Given the description of an element on the screen output the (x, y) to click on. 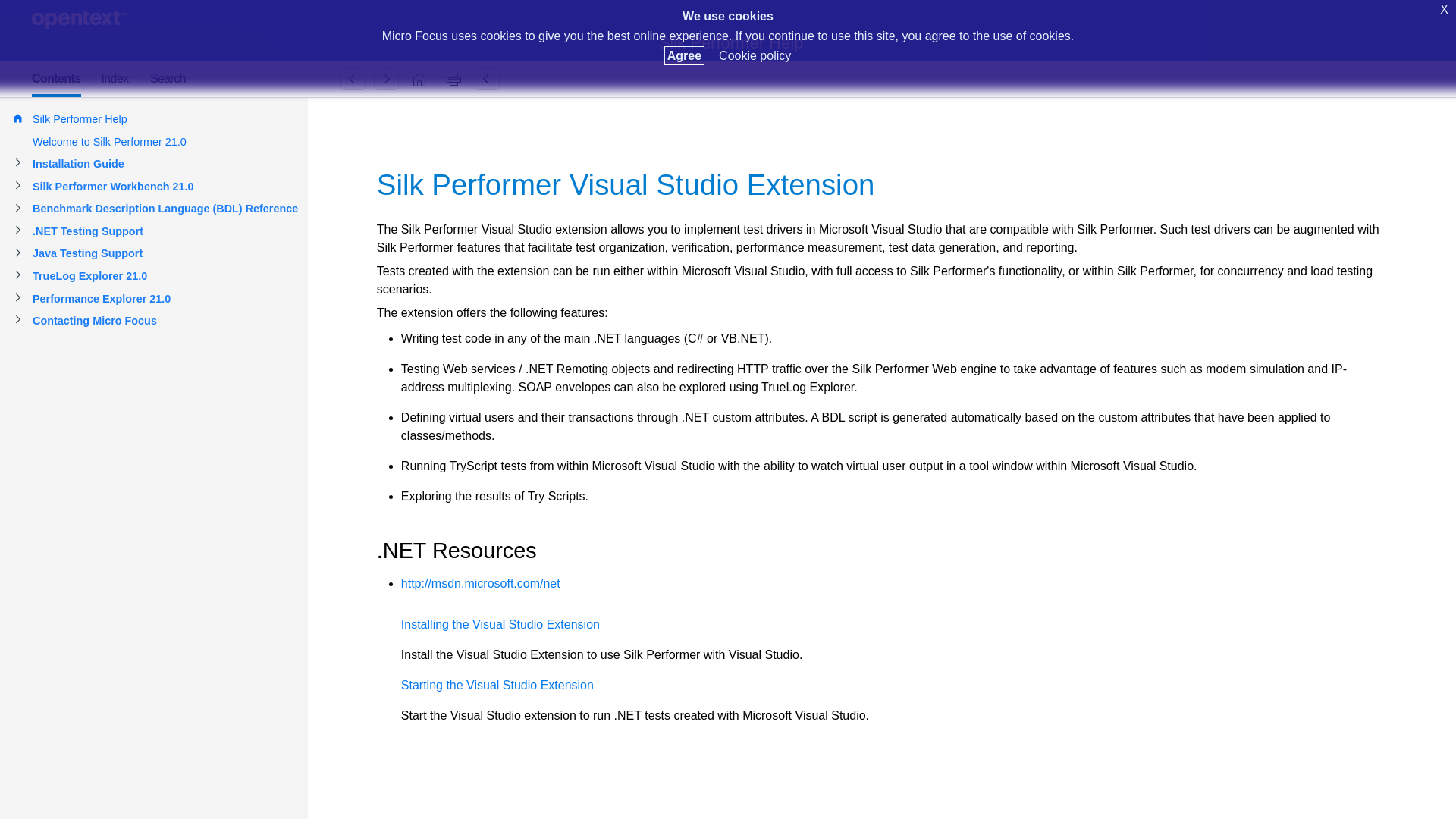
Cookie policy (754, 55)
Agree (684, 55)
